Given the description of an element on the screen output the (x, y) to click on. 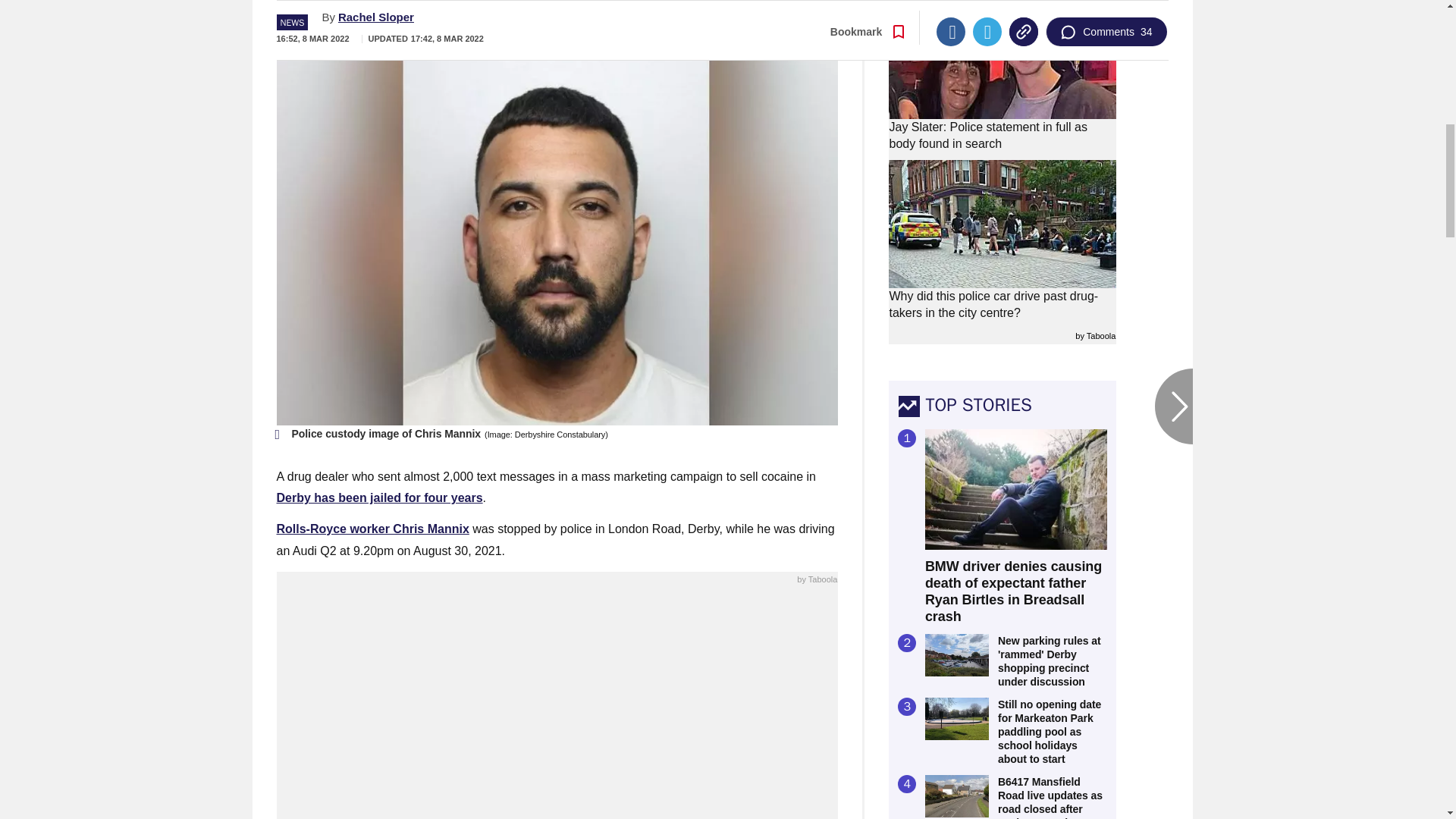
Go (730, 17)
